Given the description of an element on the screen output the (x, y) to click on. 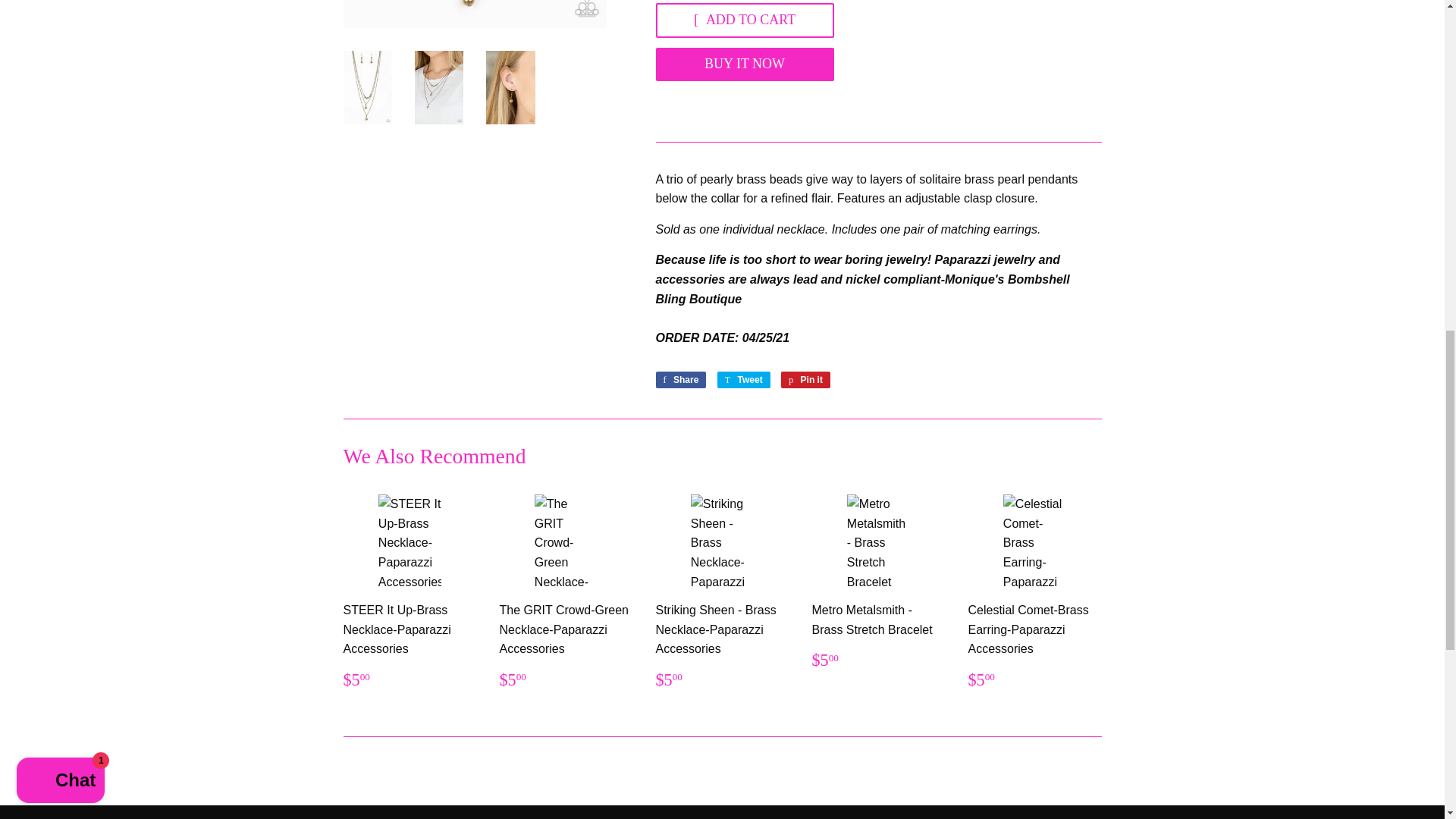
Tweet on Twitter (743, 379)
Share on Facebook (680, 379)
Pin on Pinterest (804, 379)
